Given the description of an element on the screen output the (x, y) to click on. 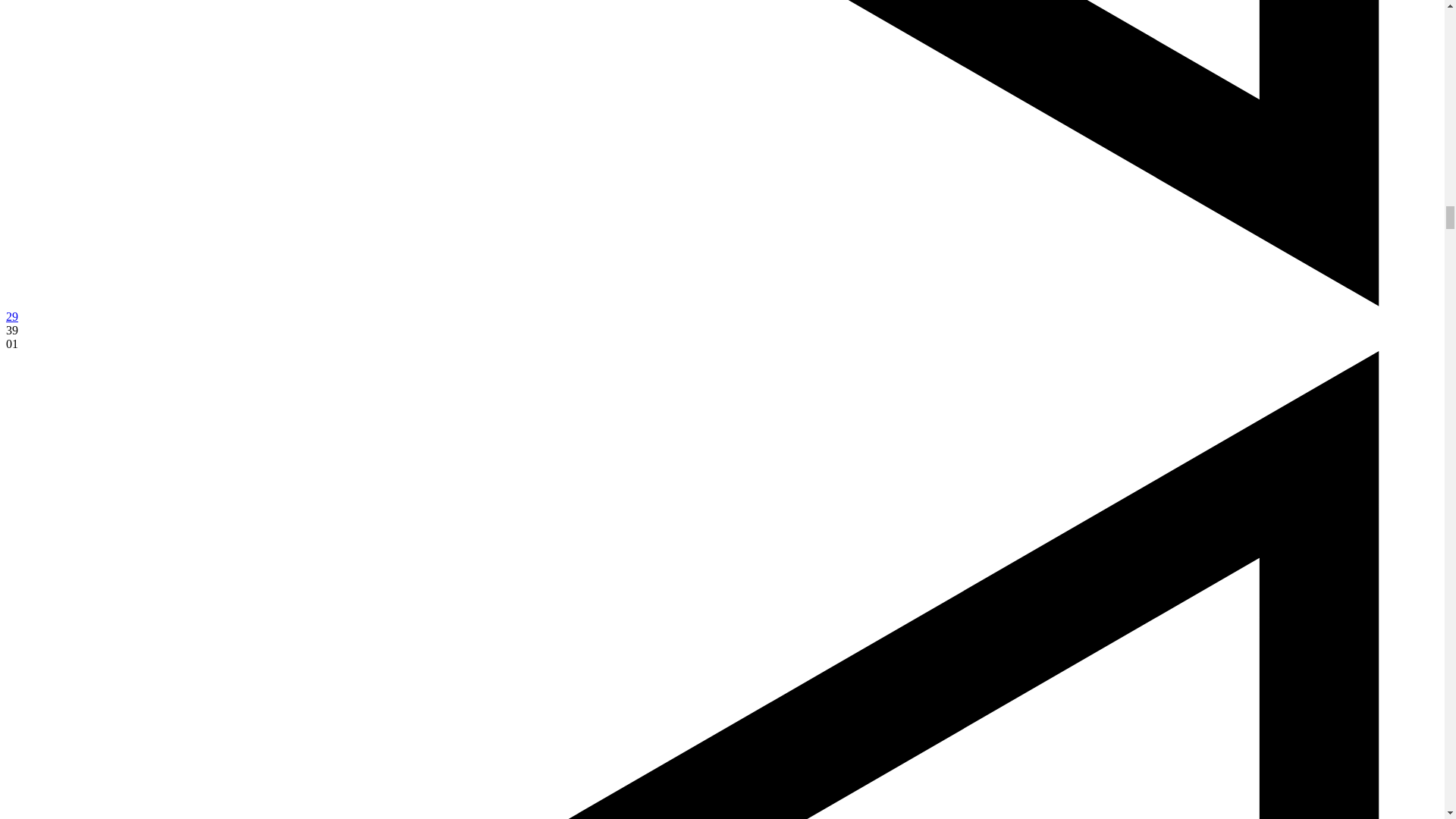
29 (11, 316)
